Given the description of an element on the screen output the (x, y) to click on. 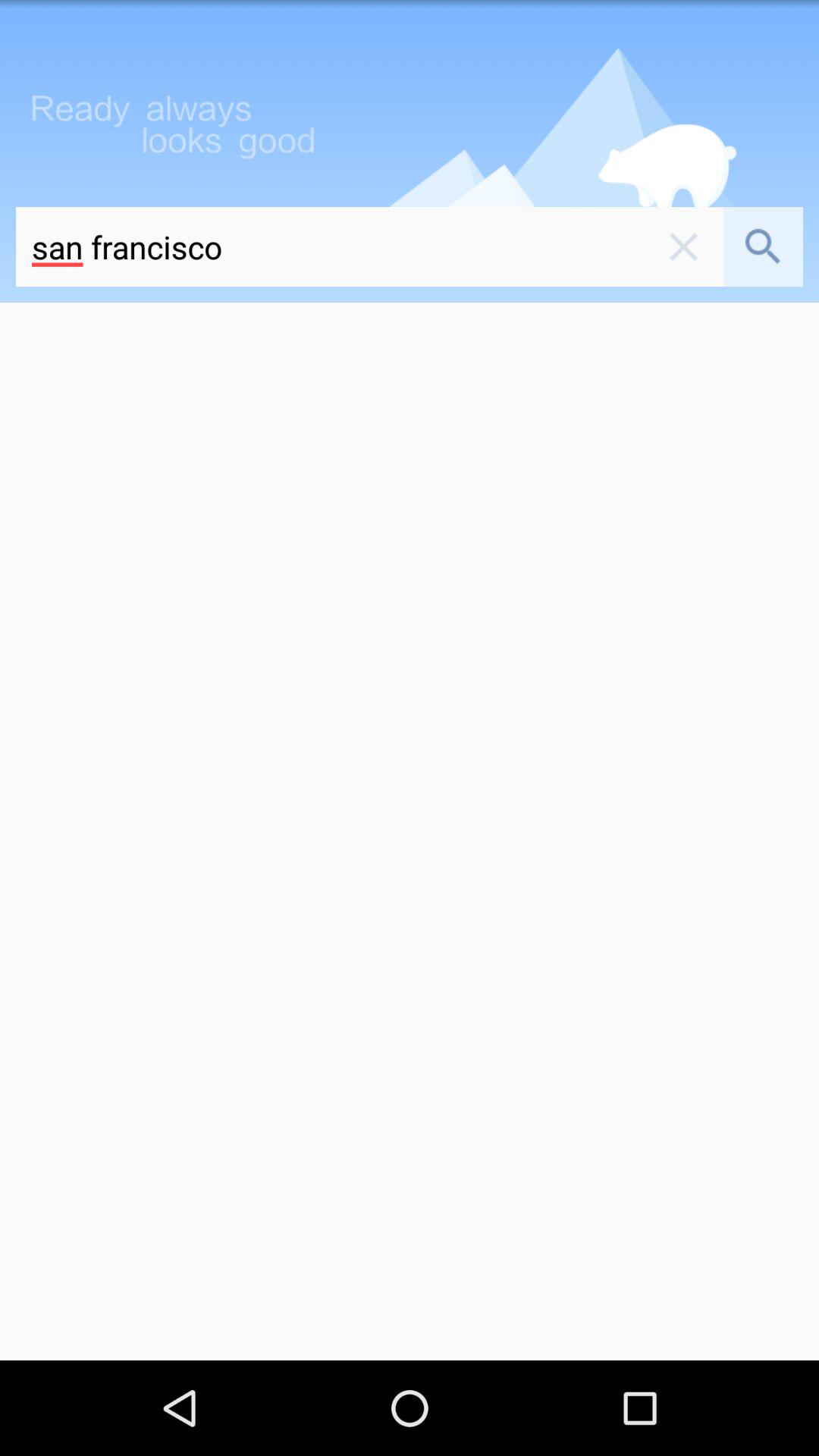
choose san francisco item (329, 246)
